Given the description of an element on the screen output the (x, y) to click on. 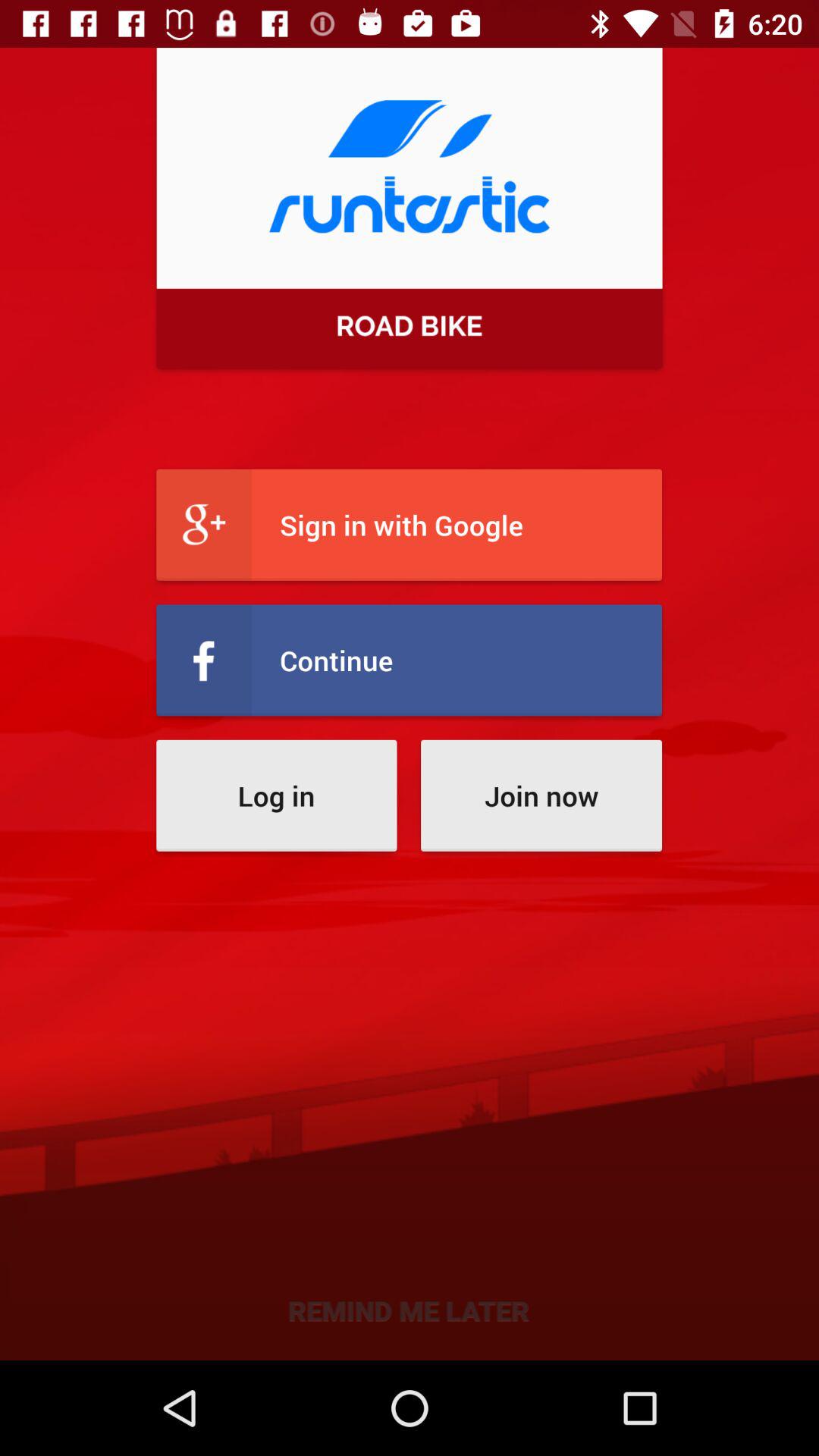
swipe to log in item (276, 795)
